Given the description of an element on the screen output the (x, y) to click on. 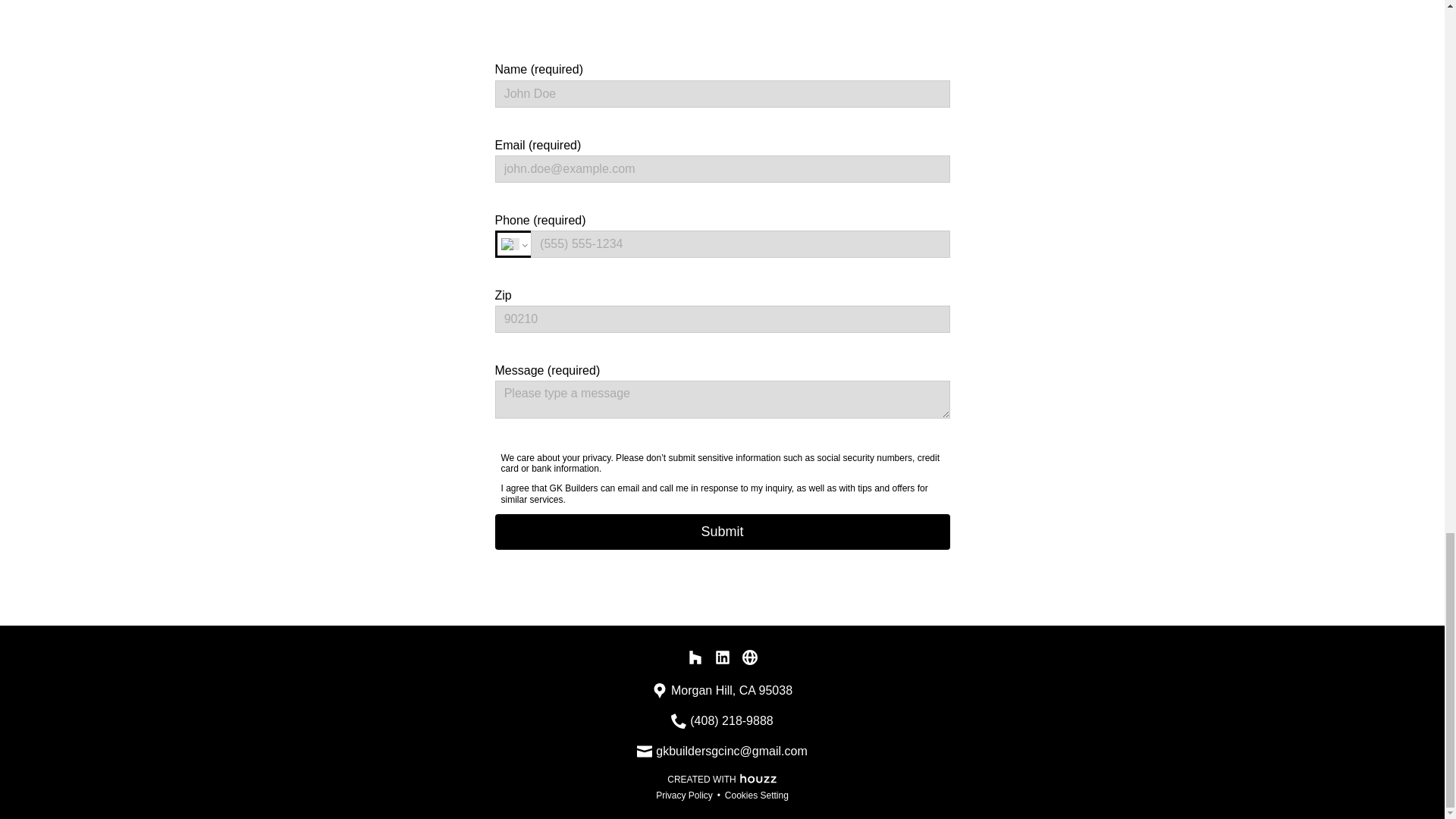
Privacy Policy (684, 795)
Morgan Hill, CA 95038 (731, 690)
Houzz (758, 776)
CREATED WITHHouzz (722, 778)
Submit (722, 531)
Cookies Setting (757, 795)
